Given the description of an element on the screen output the (x, y) to click on. 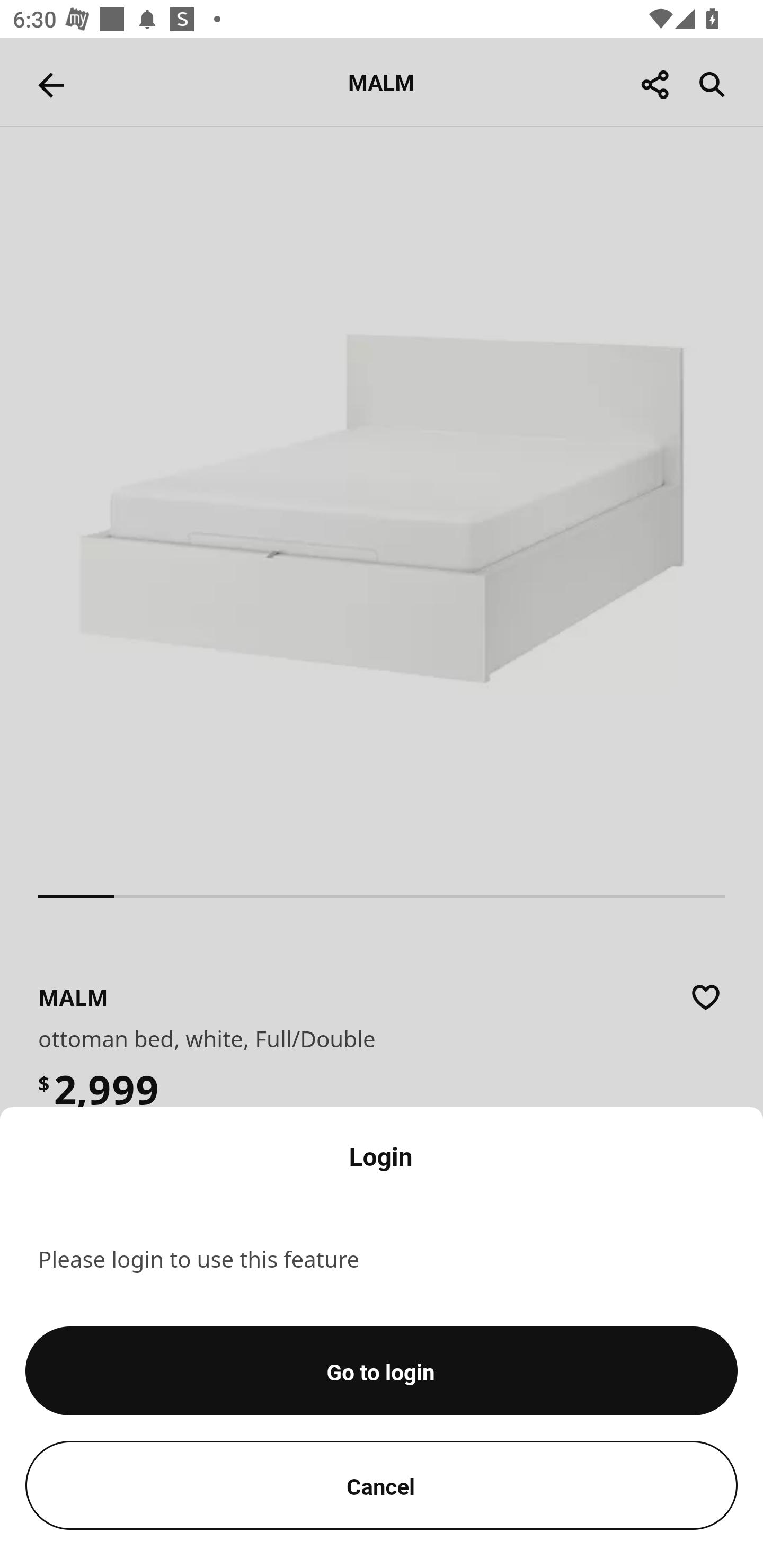
Go to login (381, 1370)
Cancel (381, 1485)
